Given the description of an element on the screen output the (x, y) to click on. 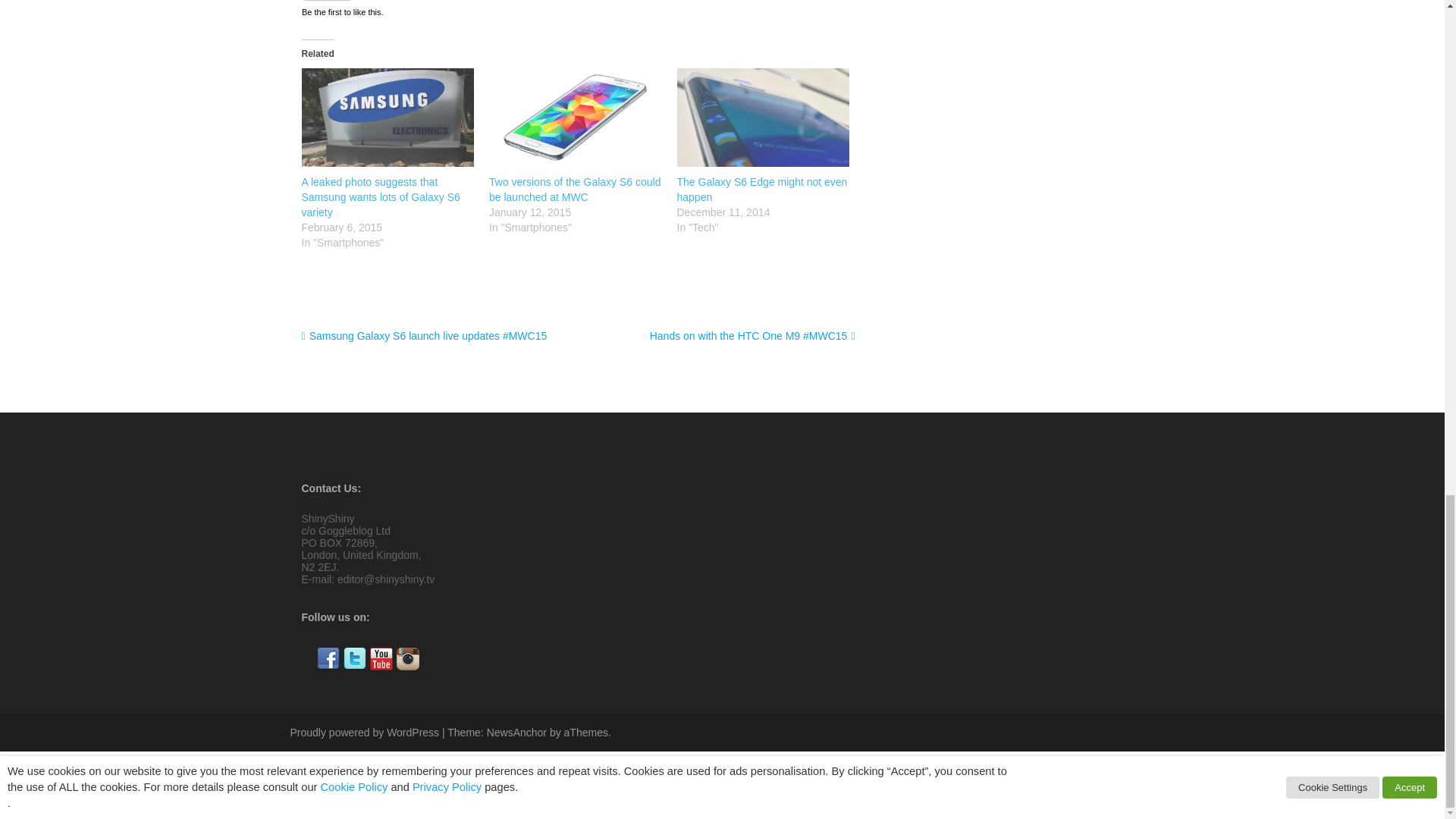
The Galaxy S6 Edge might not even happen (762, 117)
Two versions of the Galaxy S6 could be launched at MWC (575, 189)
Like or Reblog (578, 9)
The Galaxy S6 Edge might not even happen (762, 189)
Two versions of the Galaxy S6 could be launched at MWC (575, 117)
